Given the description of an element on the screen output the (x, y) to click on. 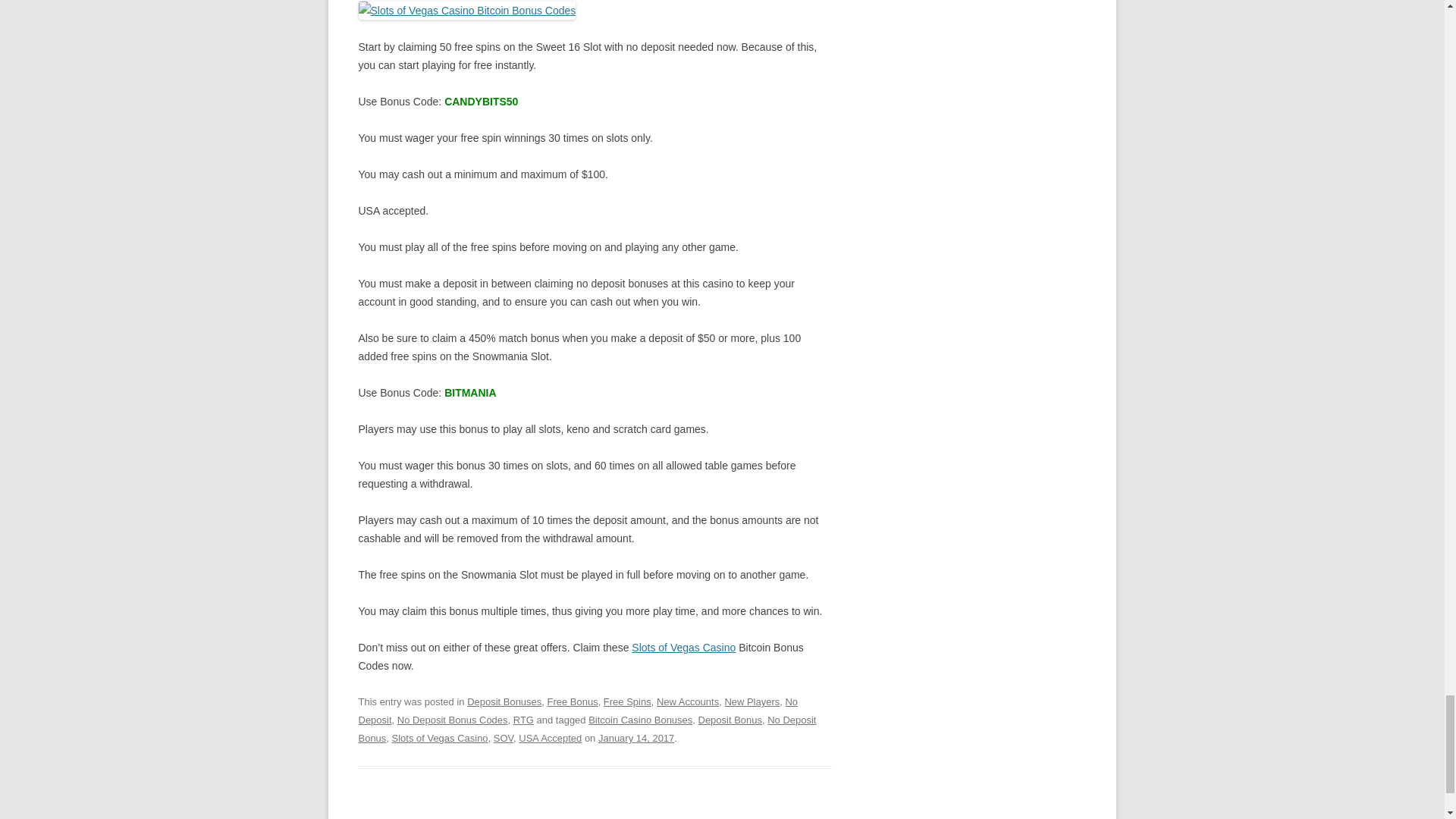
4:24 pm (636, 737)
Slots of Vegas Casino (466, 10)
Slots of Vegas Casino (683, 647)
